Given the description of an element on the screen output the (x, y) to click on. 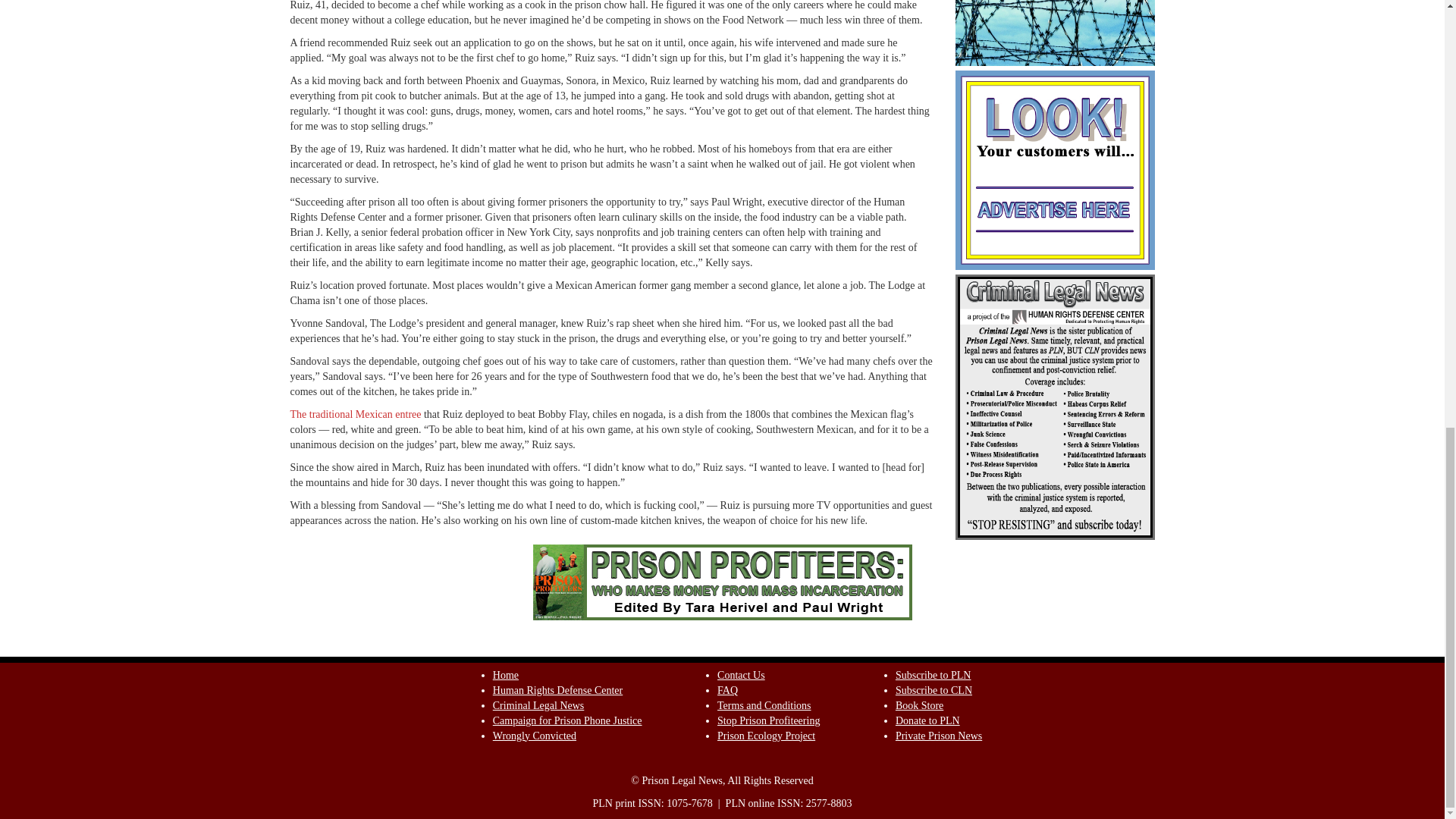
The traditional Mexican entree (354, 414)
